Given the description of an element on the screen output the (x, y) to click on. 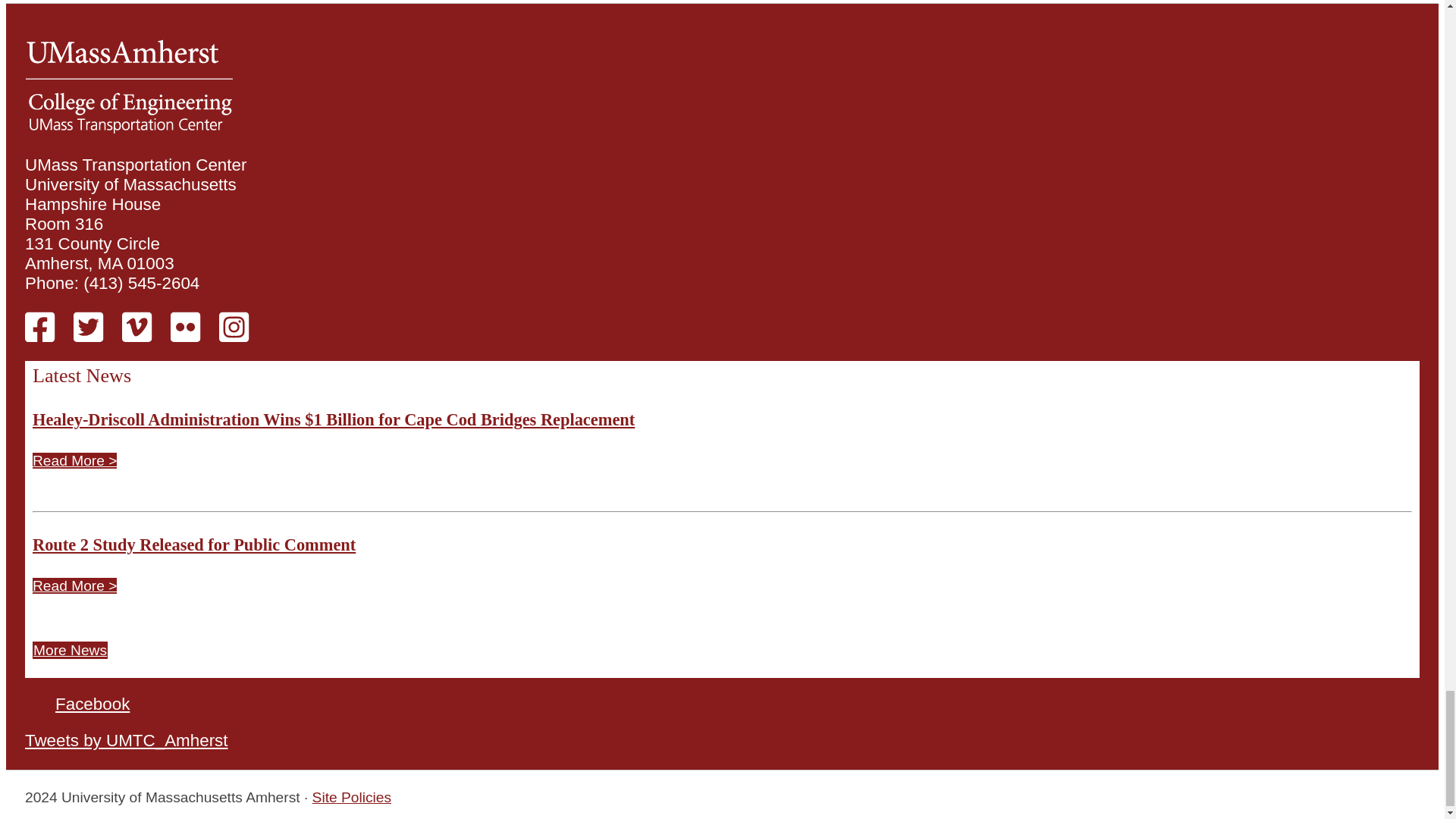
Twitter (88, 333)
Vimeo (136, 333)
Instagram (233, 333)
Facebook (39, 333)
Flickr (185, 333)
